Given the description of an element on the screen output the (x, y) to click on. 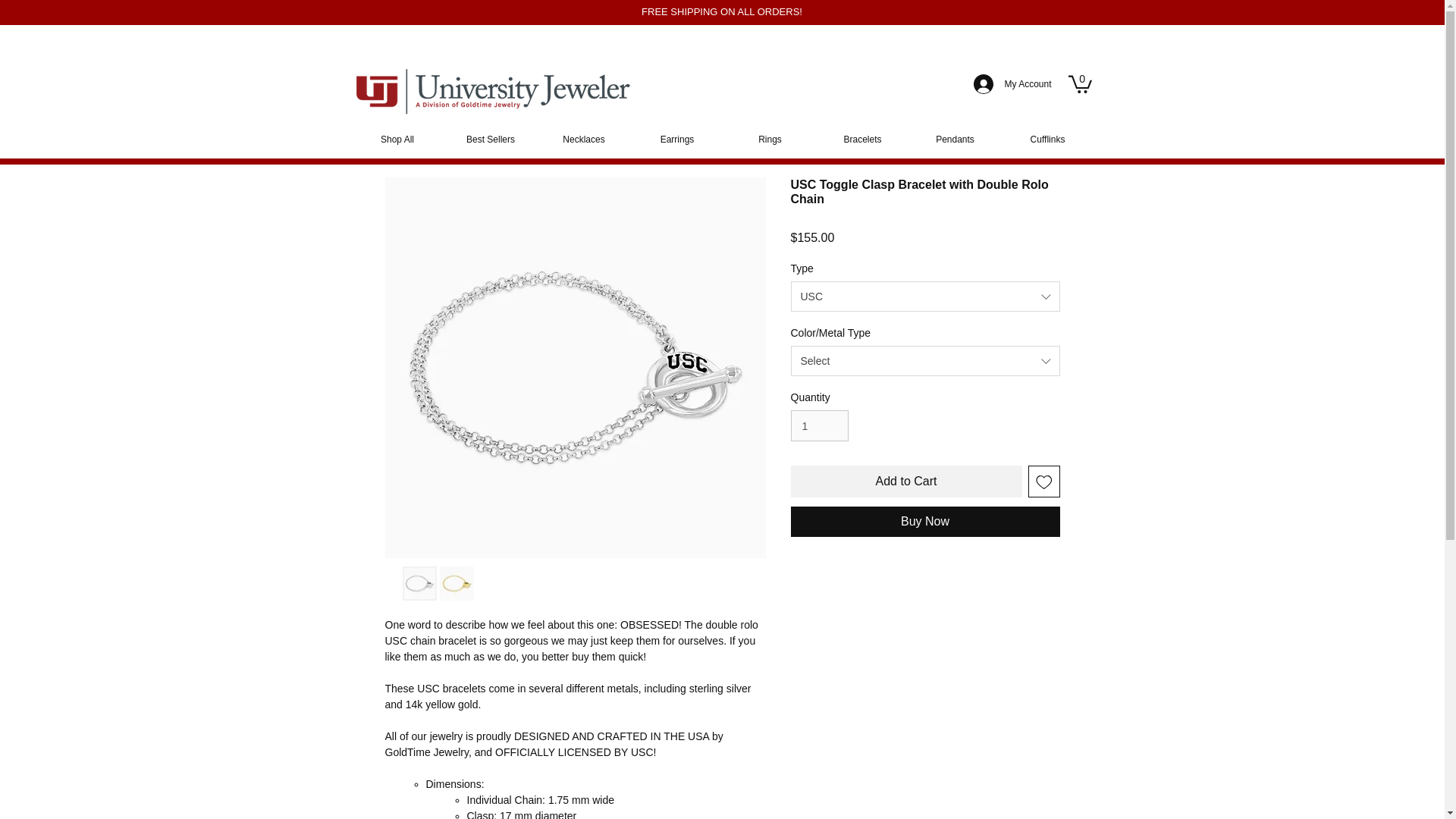
Pendants (954, 139)
USC (924, 296)
Cufflinks (1047, 139)
Rings (769, 139)
Best Sellers (490, 139)
Bracelets (861, 139)
Add to Cart (906, 481)
Select (924, 360)
Earrings (676, 139)
Shop All (397, 139)
